Given the description of an element on the screen output the (x, y) to click on. 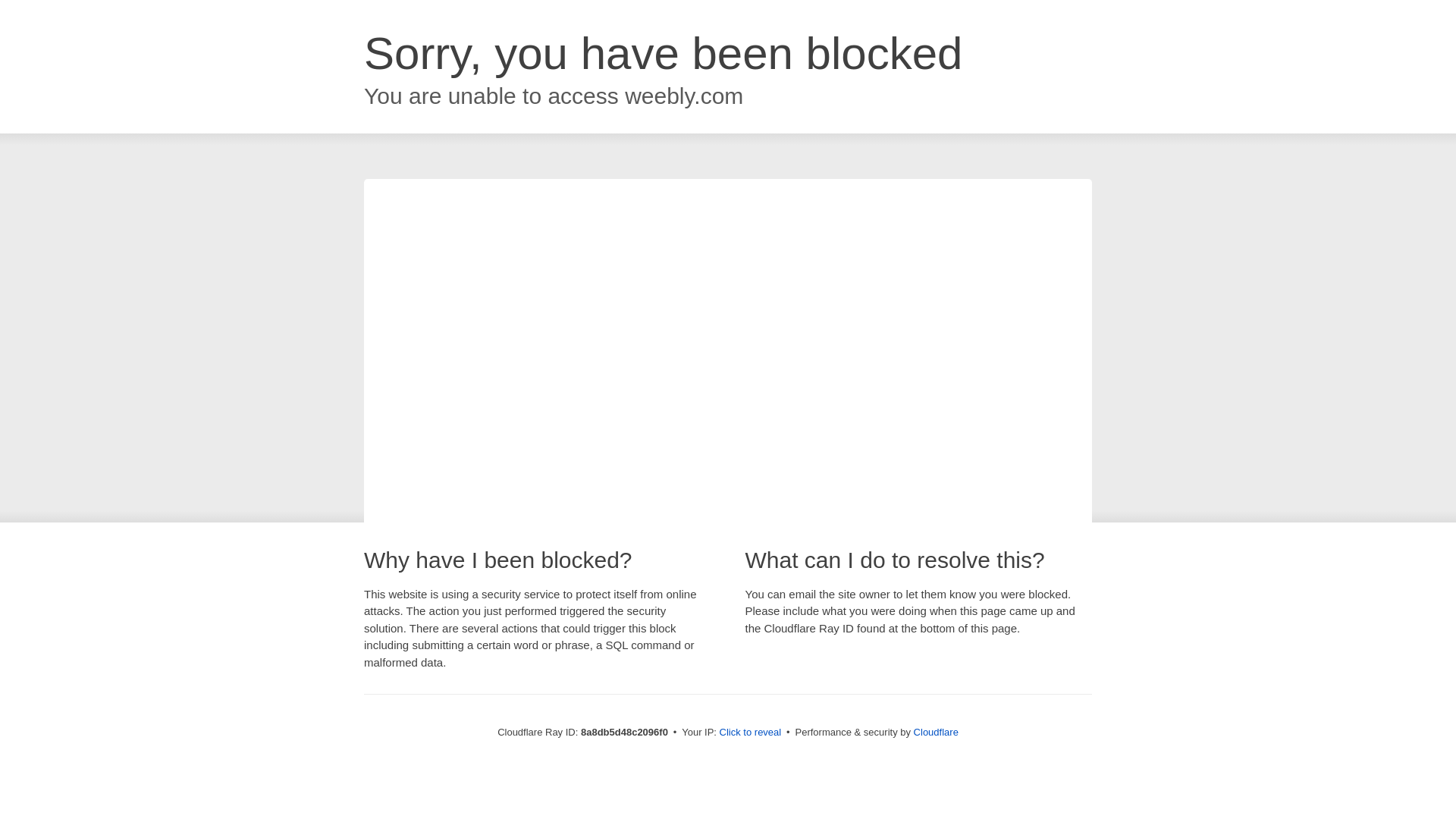
Cloudflare (936, 731)
Click to reveal (750, 732)
